Given the description of an element on the screen output the (x, y) to click on. 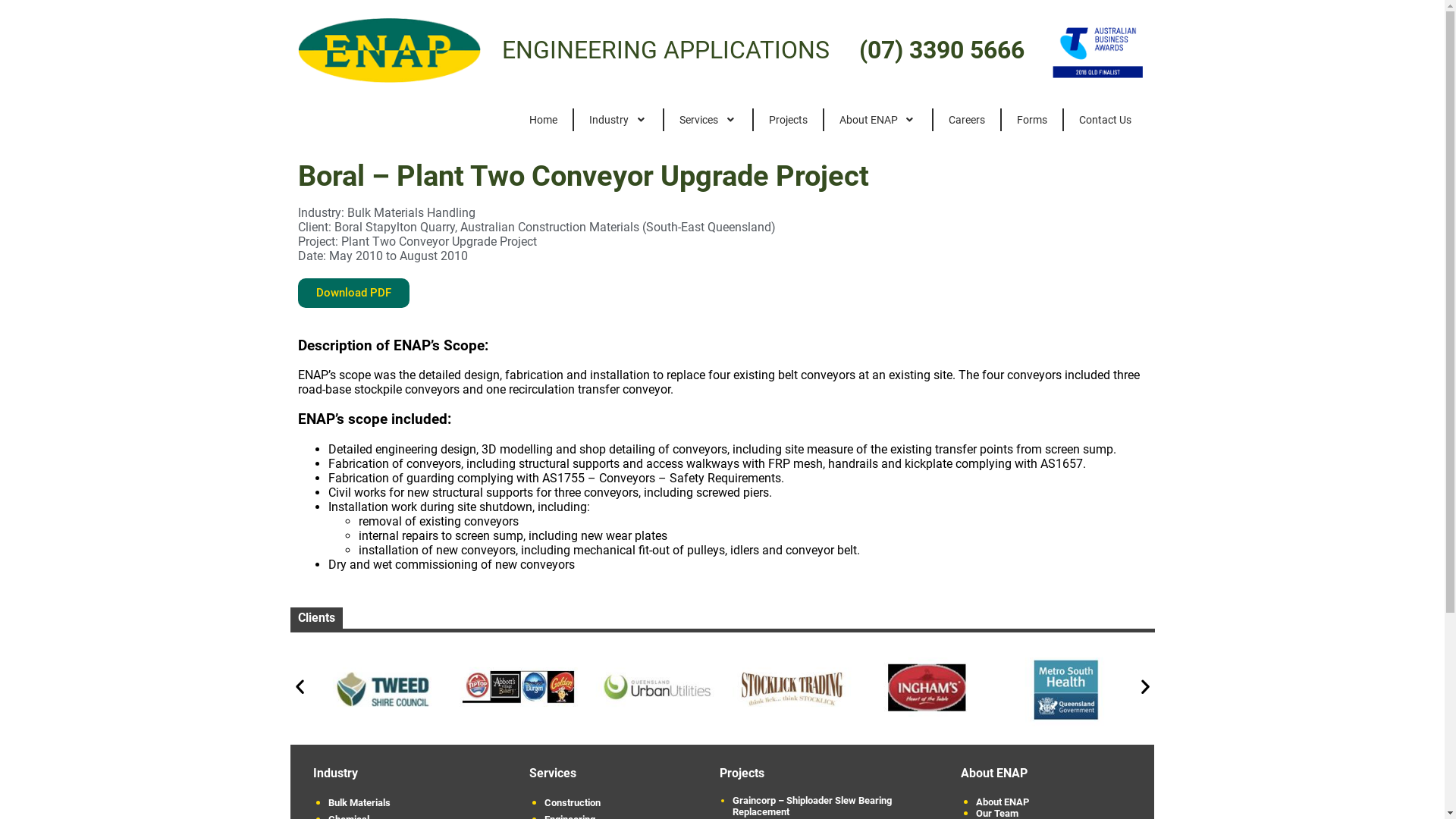
Construction Element type: text (609, 802)
Contact Us Element type: text (1105, 119)
Careers Element type: text (966, 119)
Bulk Materials Element type: text (405, 802)
Home Element type: text (543, 119)
About ENAP Element type: text (870, 119)
Download PDF Element type: text (352, 292)
Projects Element type: text (787, 119)
Forms Element type: text (1031, 119)
Industry Element type: text (611, 119)
Services Element type: text (700, 119)
About ENAP Element type: text (1053, 801)
(07) 3390 5666 Element type: text (941, 49)
Our Team Element type: text (1053, 813)
